Given the description of an element on the screen output the (x, y) to click on. 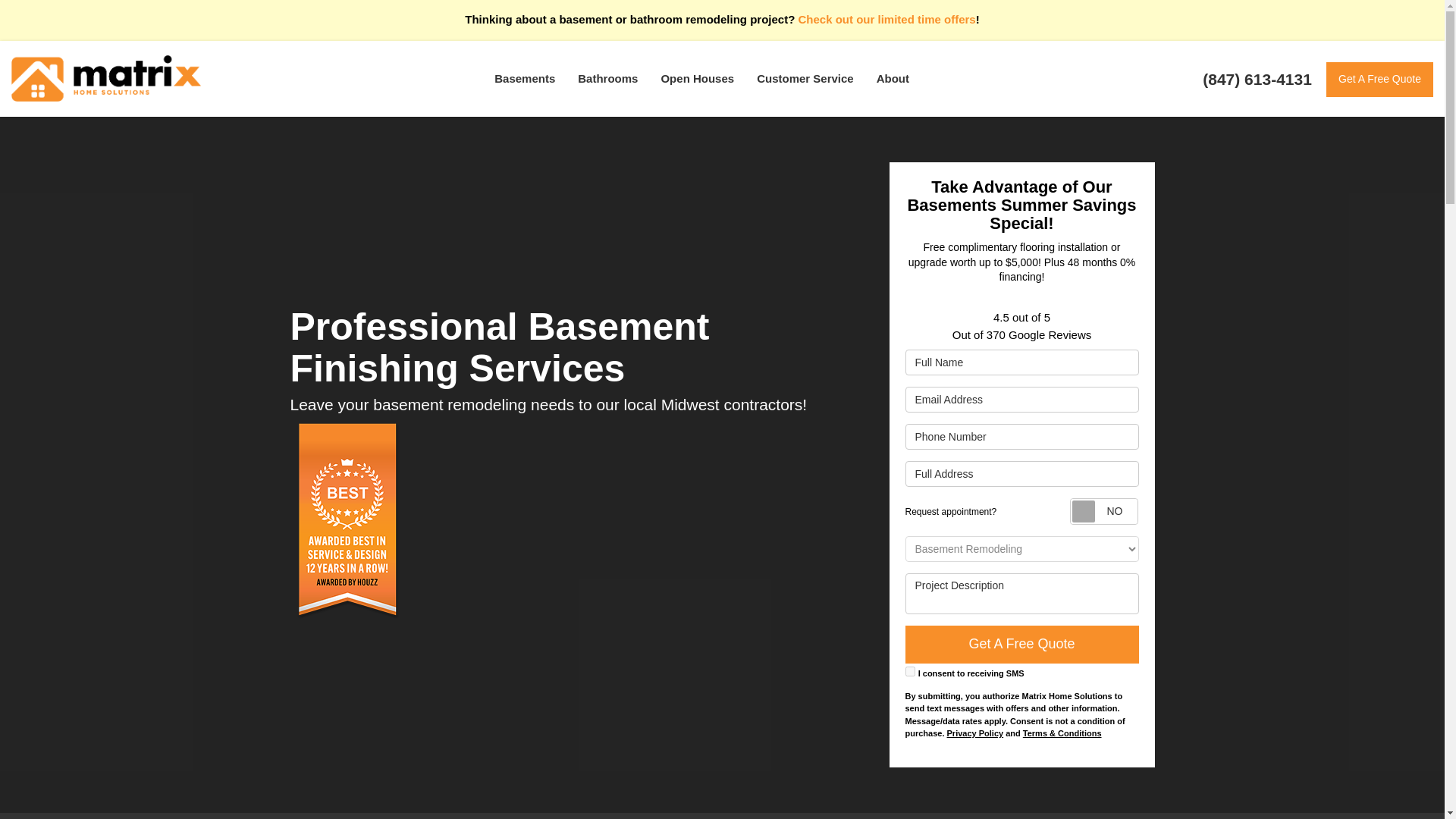
Bathrooms (607, 78)
checked (910, 671)
Basements (524, 78)
Check out our limited time offers (886, 19)
Get A Free Quote (1379, 79)
Open Houses (697, 78)
Get A Free Quote (1379, 79)
Customer Service (804, 78)
